Given the description of an element on the screen output the (x, y) to click on. 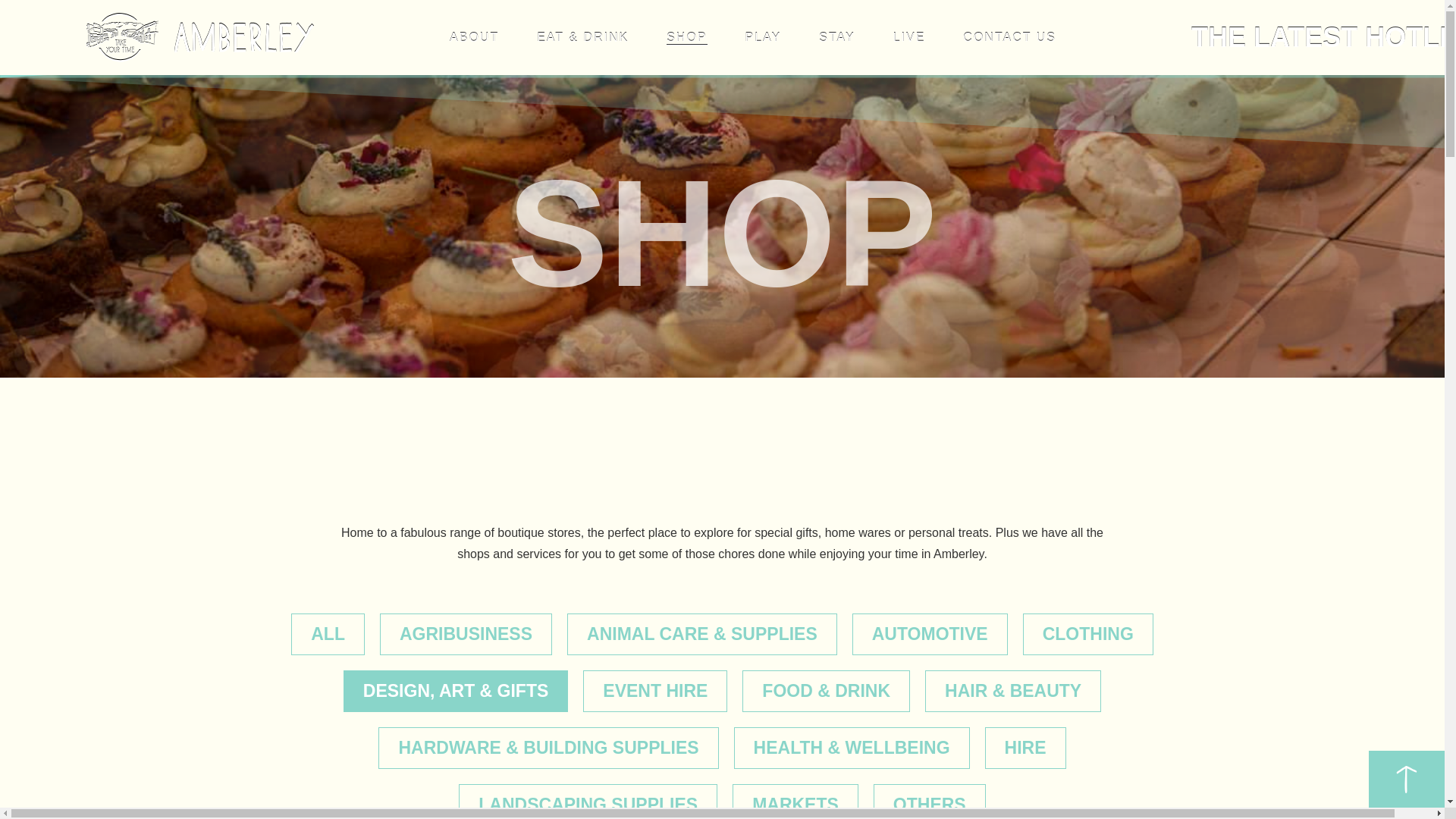
LIVE (909, 37)
STAY (836, 37)
PLAY (762, 37)
SHOP (686, 37)
ABOUT (474, 37)
